Given the description of an element on the screen output the (x, y) to click on. 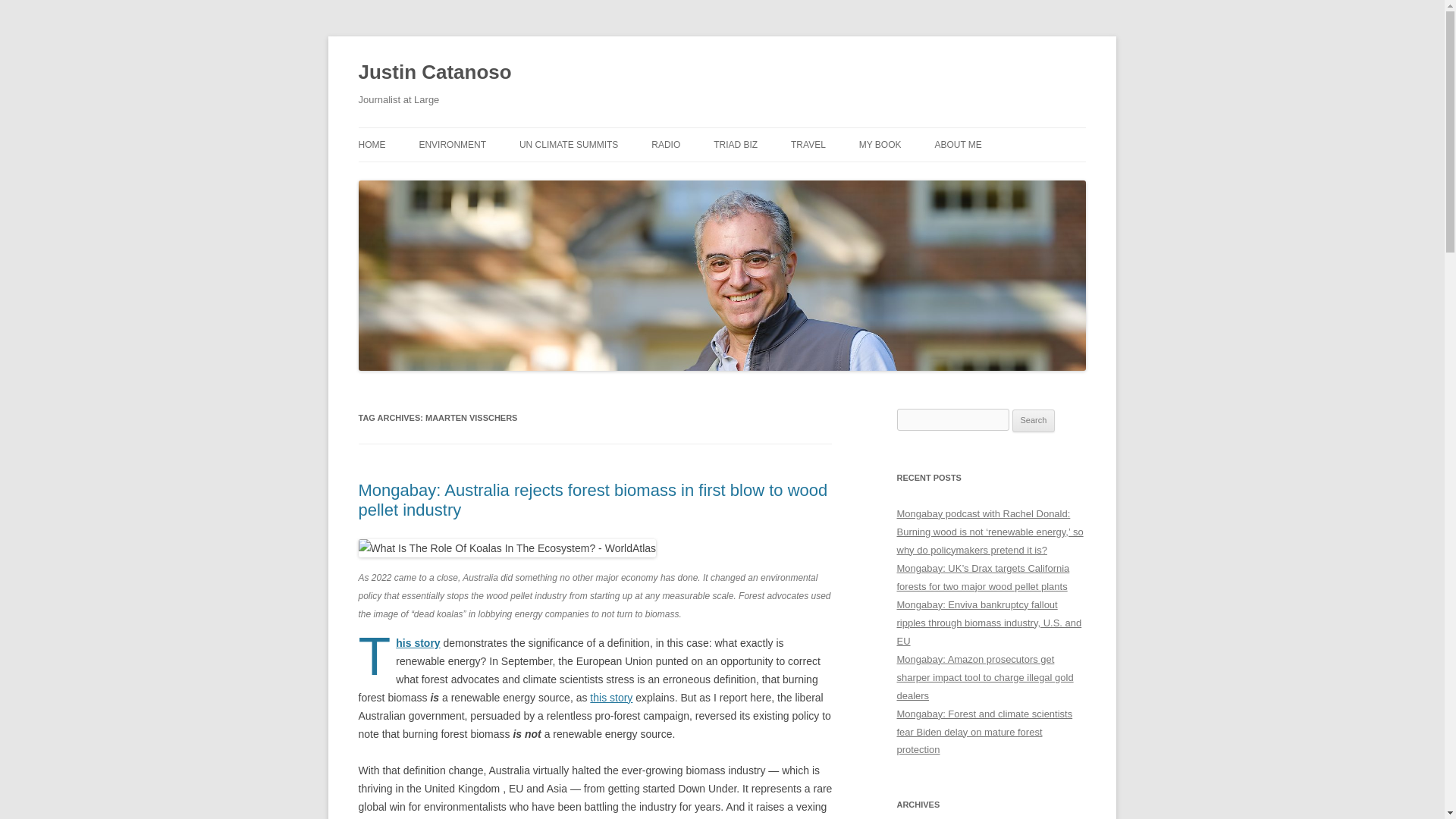
ABOUT ME (957, 144)
ENVIRONMENT (452, 144)
RADIO (664, 144)
this story (610, 697)
Search (1033, 420)
MY BOOK (880, 144)
This story (417, 643)
TRAVEL (807, 144)
UN CLIMATE SUMMITS (568, 144)
TRIAD BIZ (735, 144)
Justin Catanoso (434, 72)
HOME (371, 144)
